Given the description of an element on the screen output the (x, y) to click on. 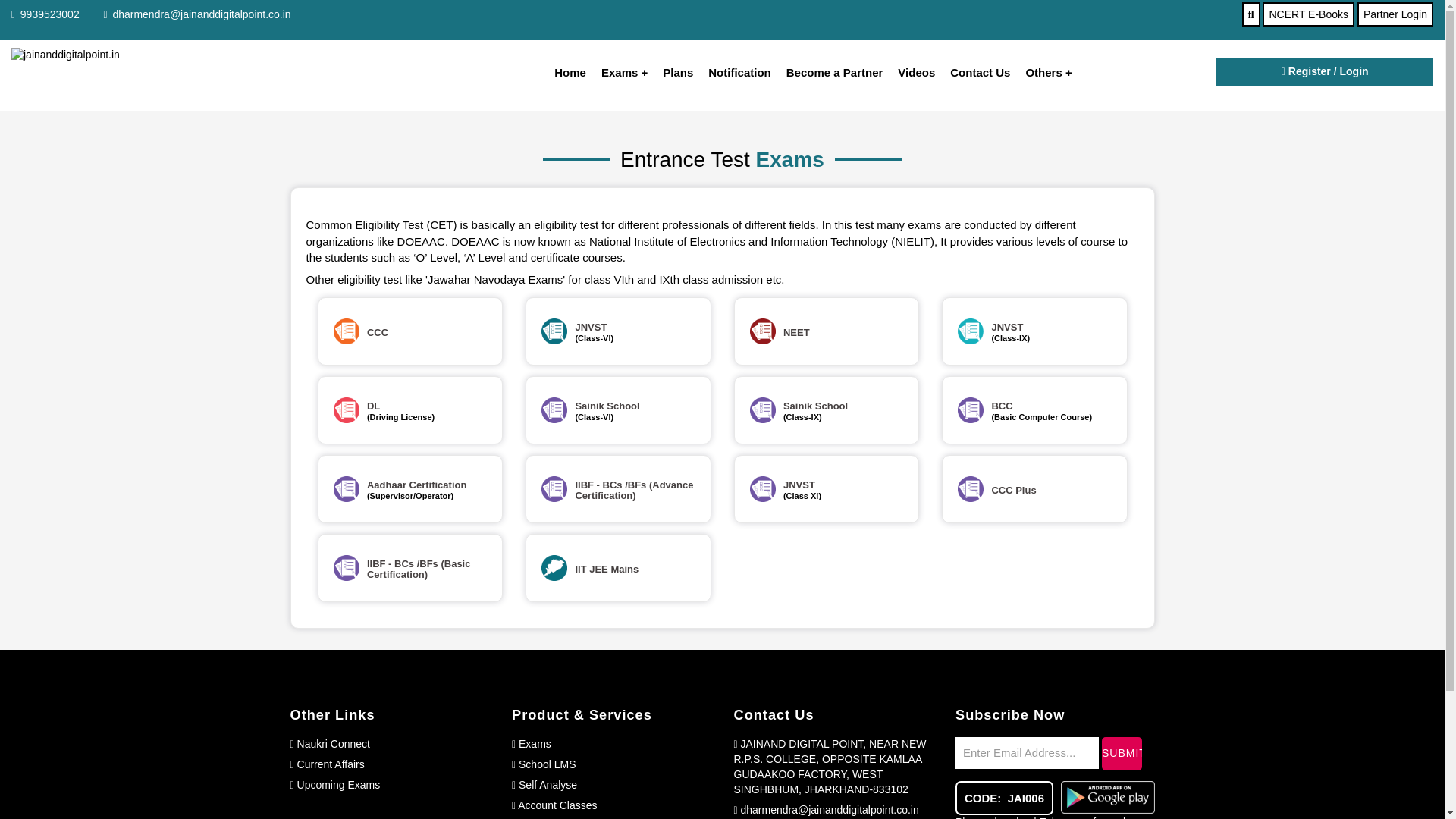
NCERT E-Books (1308, 14)
Exams (616, 72)
Contact Us (972, 72)
Become a Partner (827, 72)
Entrance Test (346, 410)
Entrance Test (971, 410)
Entrance Test (554, 567)
Entrance Test (761, 410)
Notification (732, 72)
Plans (670, 72)
